Given the description of an element on the screen output the (x, y) to click on. 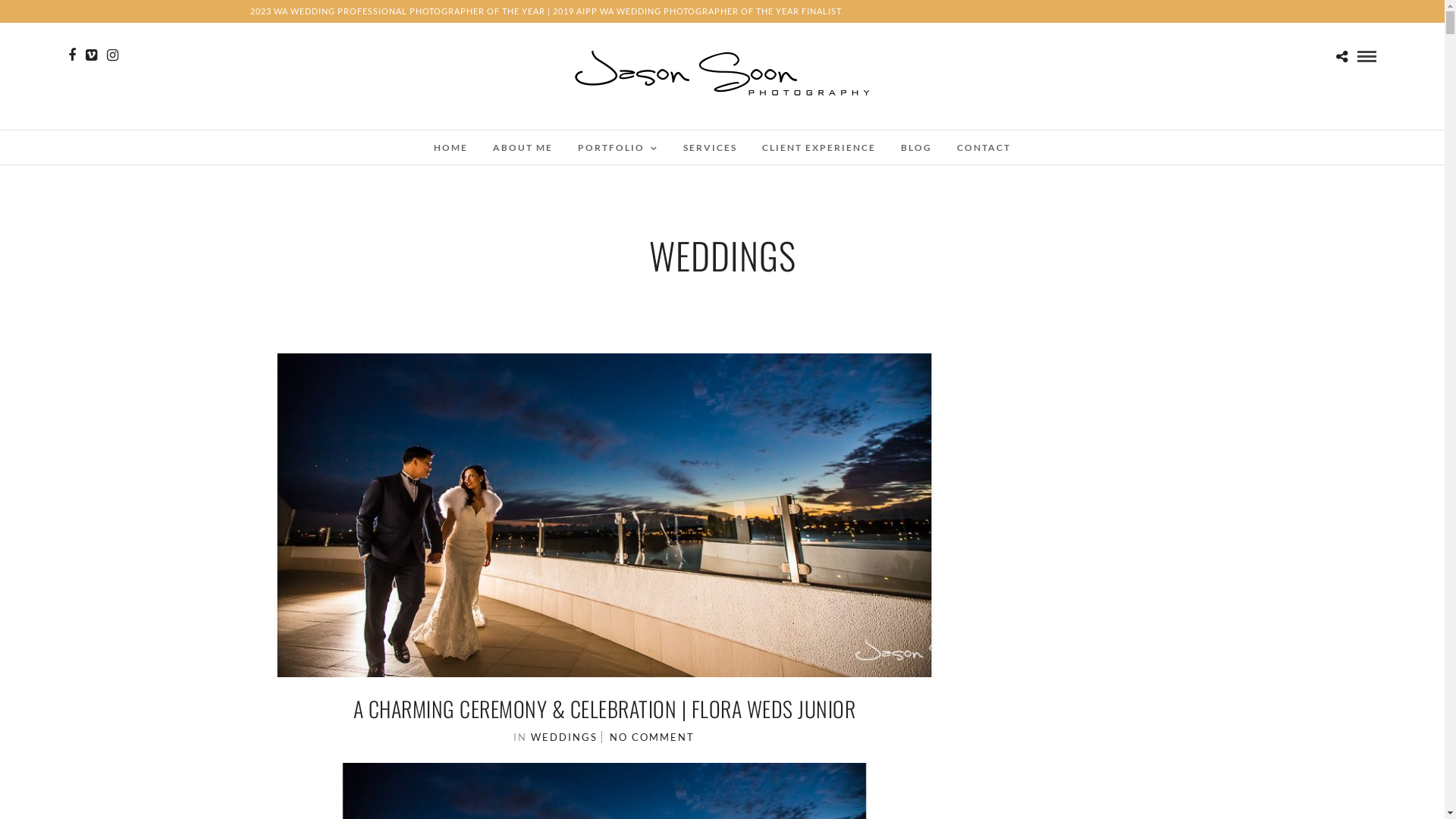
SERVICES Element type: text (709, 147)
CLIENT EXPERIENCE Element type: text (818, 147)
ABOUT ME Element type: text (522, 147)
HOME Element type: text (450, 147)
CONTACT Element type: text (983, 147)
NO COMMENT Element type: text (651, 737)
A CHARMING CEREMONY & CELEBRATION | FLORA WEDS JUNIOR Element type: text (604, 708)
Instagram Element type: hover (112, 55)
WEDDINGS Element type: text (563, 737)
BLOG Element type: text (916, 147)
Vimeo Element type: hover (91, 55)
PORTFOLIO Element type: text (617, 147)
